Given the description of an element on the screen output the (x, y) to click on. 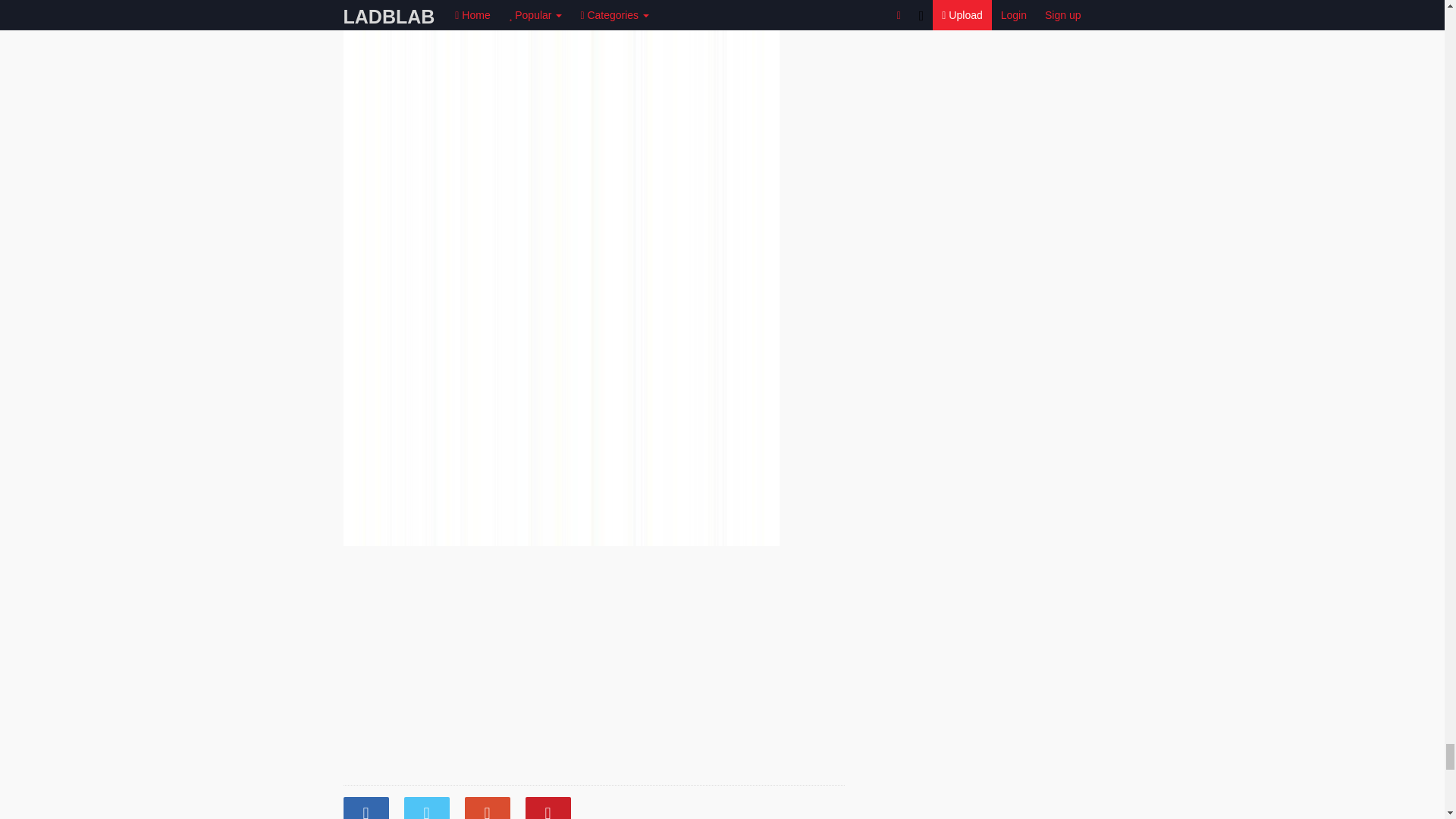
Share on Facebook (365, 807)
Share on Twitter (425, 807)
Pin It (547, 807)
Share on Google Plus (486, 807)
